Given the description of an element on the screen output the (x, y) to click on. 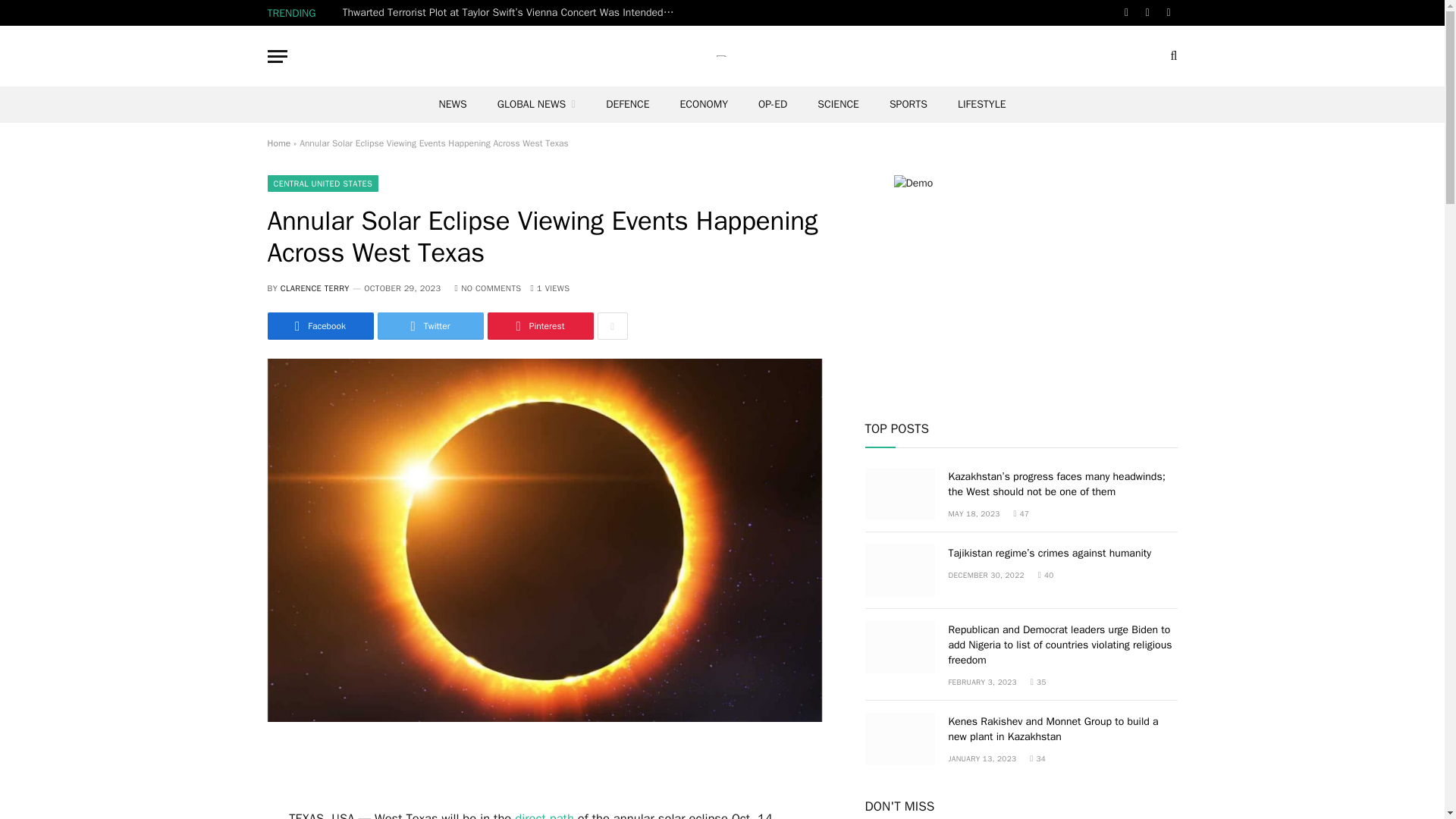
1 Article Views (549, 287)
Posts by Clarence Terry (315, 287)
Share on Pinterest (539, 325)
Share on Facebook (319, 325)
Show More Social Sharing (611, 325)
